Given the description of an element on the screen output the (x, y) to click on. 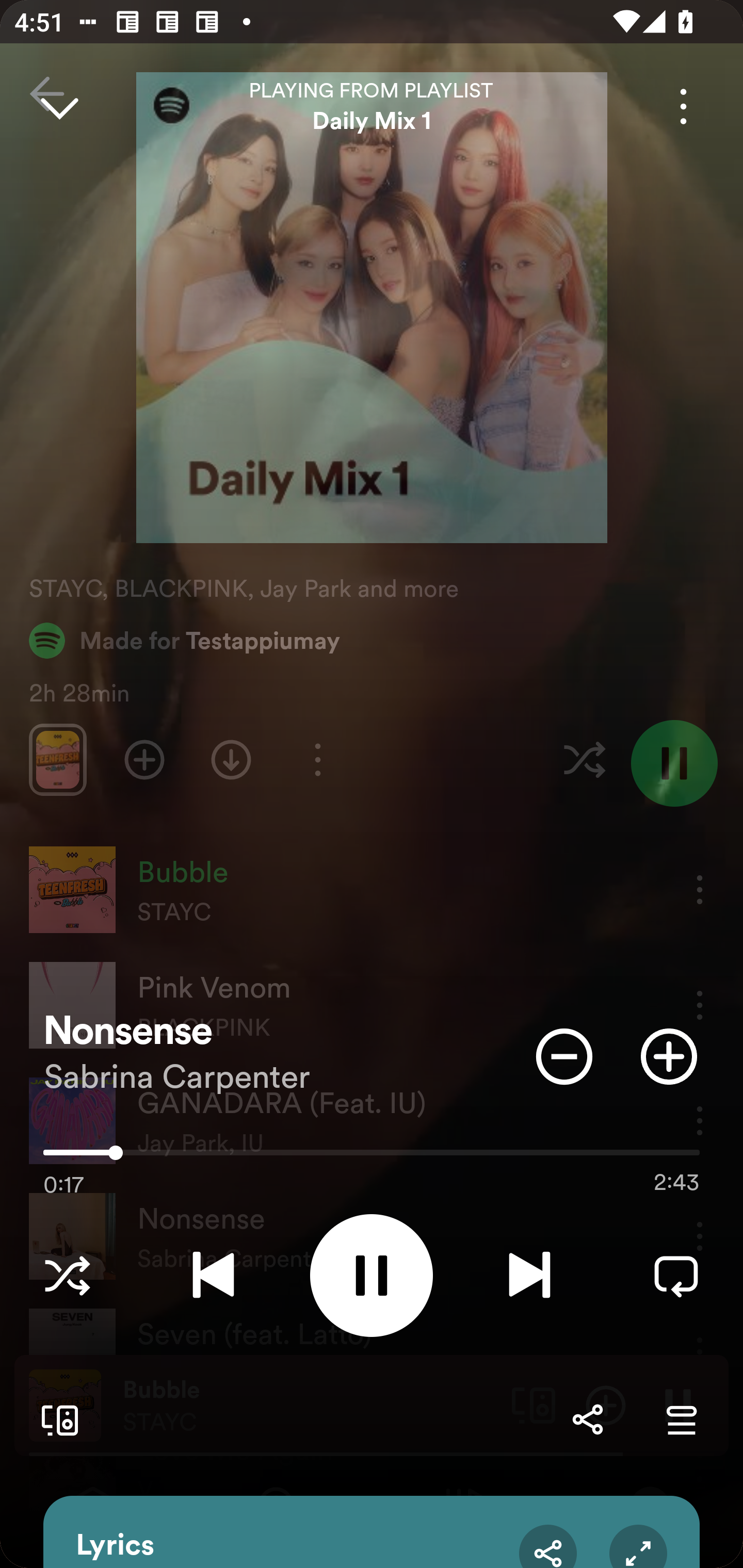
Close (59, 106)
More options for song Nonsense (683, 106)
PLAYING FROM PLAYLIST Daily Mix 1 (371, 106)
Don't play this (564, 1056)
Add item (669, 1056)
0:17 2:43 17190.0 Use volume keys to adjust (371, 1157)
Pause (371, 1275)
Previous (212, 1275)
Next (529, 1275)
Shuffle tracks (66, 1275)
Repeat (676, 1275)
Share (587, 1419)
Go to Queue (681, 1419)
Connect to a device. Opens the devices menu (55, 1419)
Lyrics Share Expand (371, 1531)
Share (547, 1546)
Expand (638, 1546)
